Given the description of an element on the screen output the (x, y) to click on. 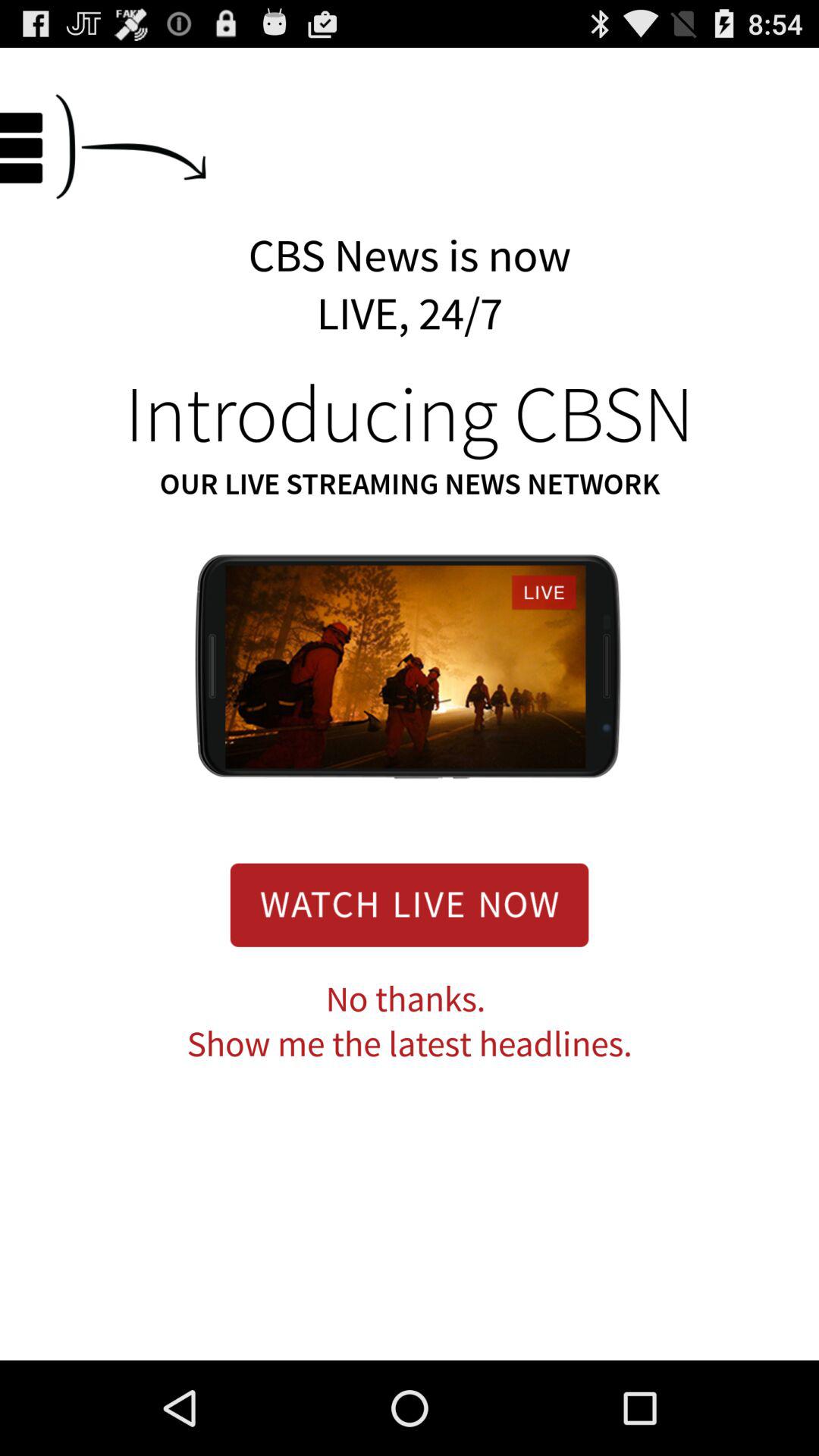
because back devicer (409, 904)
